Given the description of an element on the screen output the (x, y) to click on. 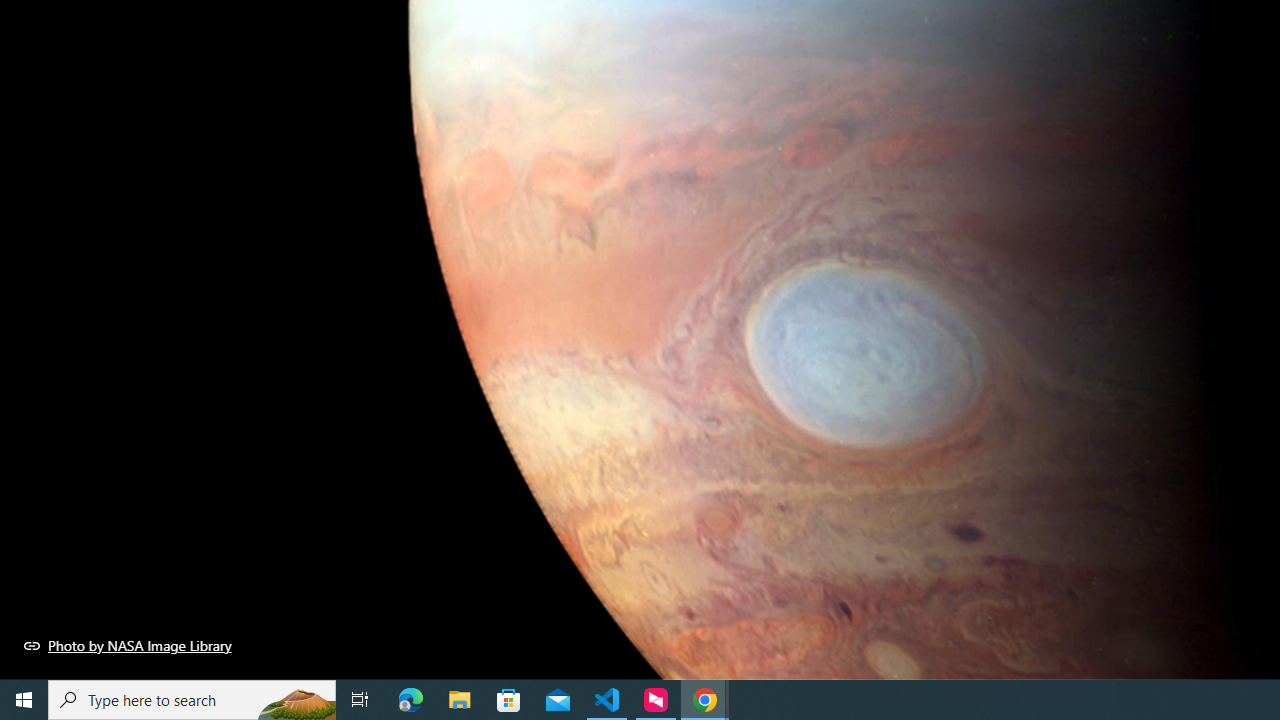
Photo by NASA Image Library (127, 645)
